Given the description of an element on the screen output the (x, y) to click on. 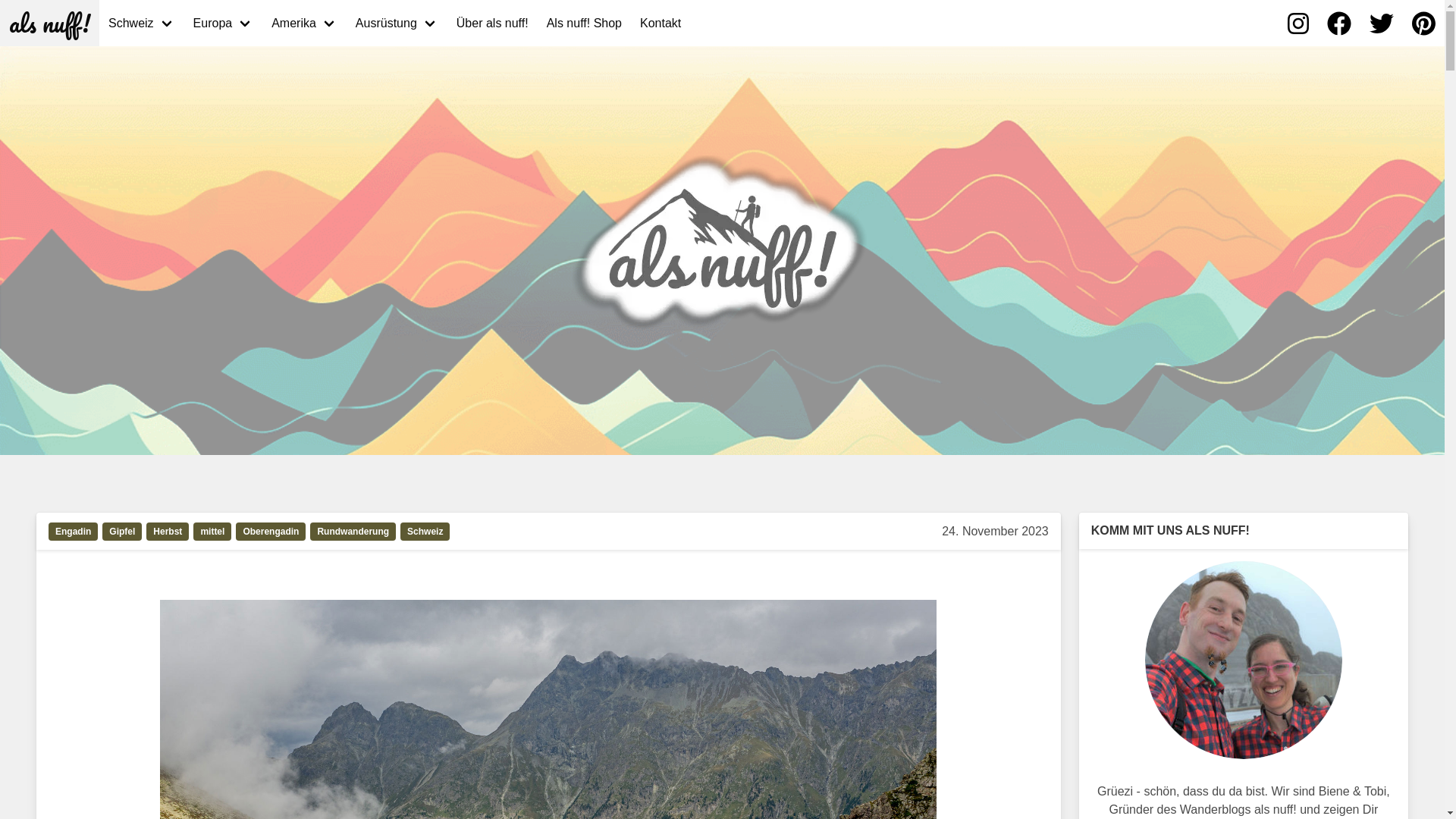
Rundwanderung Element type: text (355, 533)
Als nuff! Shop Element type: text (583, 23)
Schweiz Element type: text (427, 533)
Engadin Element type: text (75, 533)
Kontakt Element type: text (660, 23)
mittel Element type: text (214, 533)
Herbst Element type: text (169, 533)
Oberengadin Element type: text (272, 533)
Gipfel Element type: text (124, 533)
als nuff! Element type: text (49, 23)
